Given the description of an element on the screen output the (x, y) to click on. 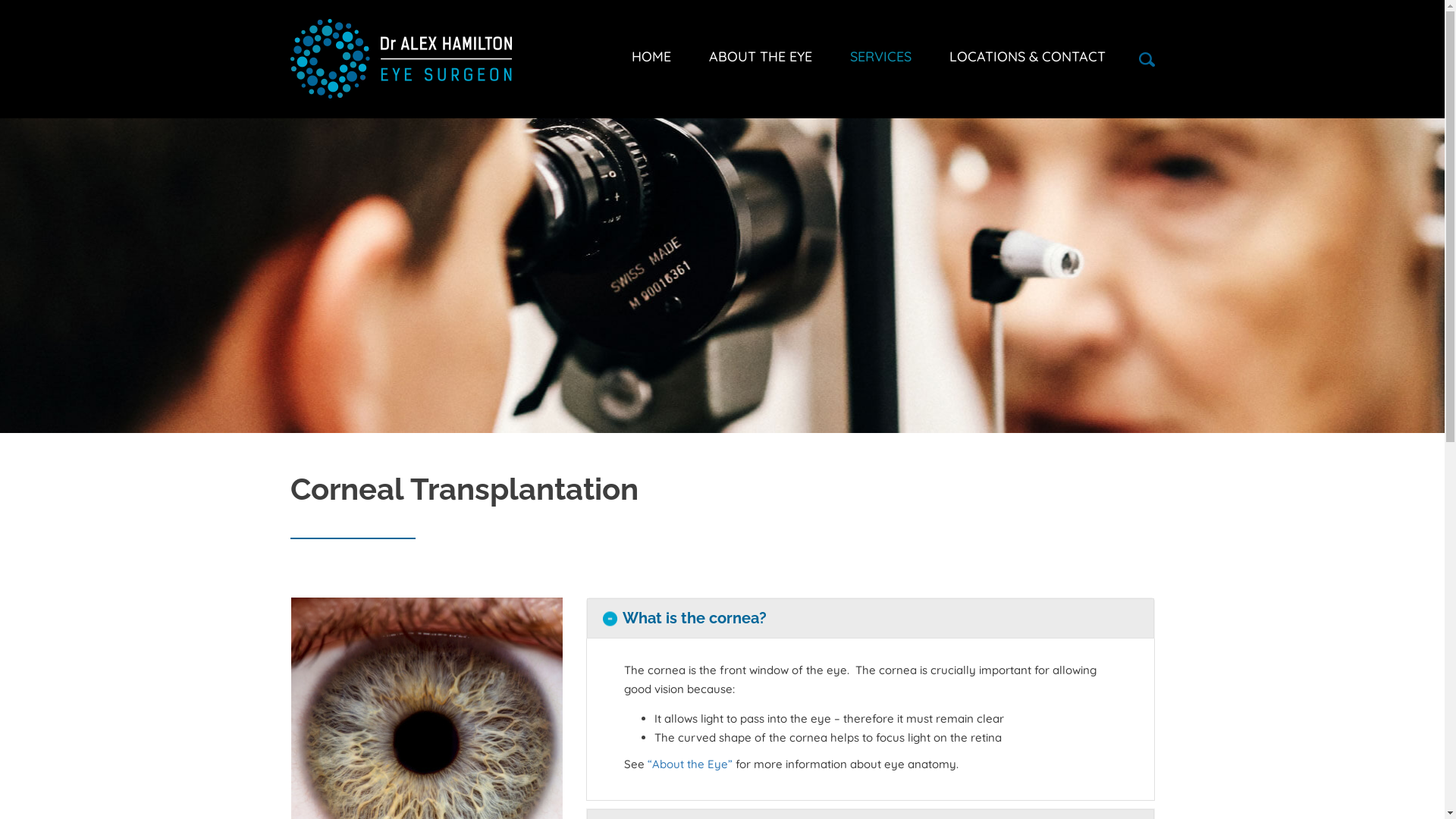
ABOUT THE EYE Element type: text (760, 56)
HOME Element type: text (659, 56)
What is the cornea? Element type: text (870, 618)
LOCATIONS & CONTACT Element type: text (1016, 56)
SERVICES Element type: text (880, 56)
